Given the description of an element on the screen output the (x, y) to click on. 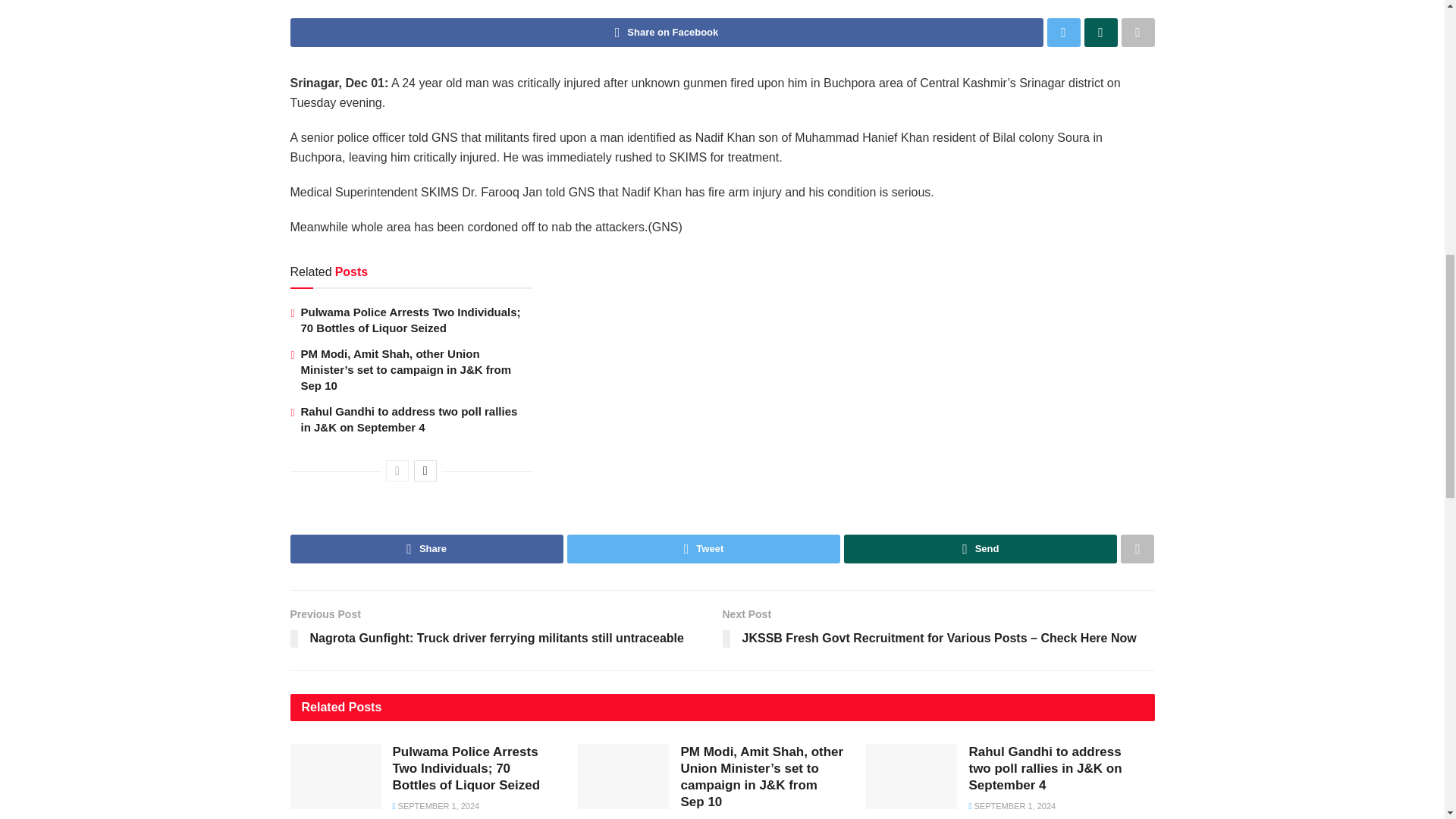
Share (425, 548)
Next (424, 470)
Previous (397, 470)
Share on Facebook (665, 32)
